Given the description of an element on the screen output the (x, y) to click on. 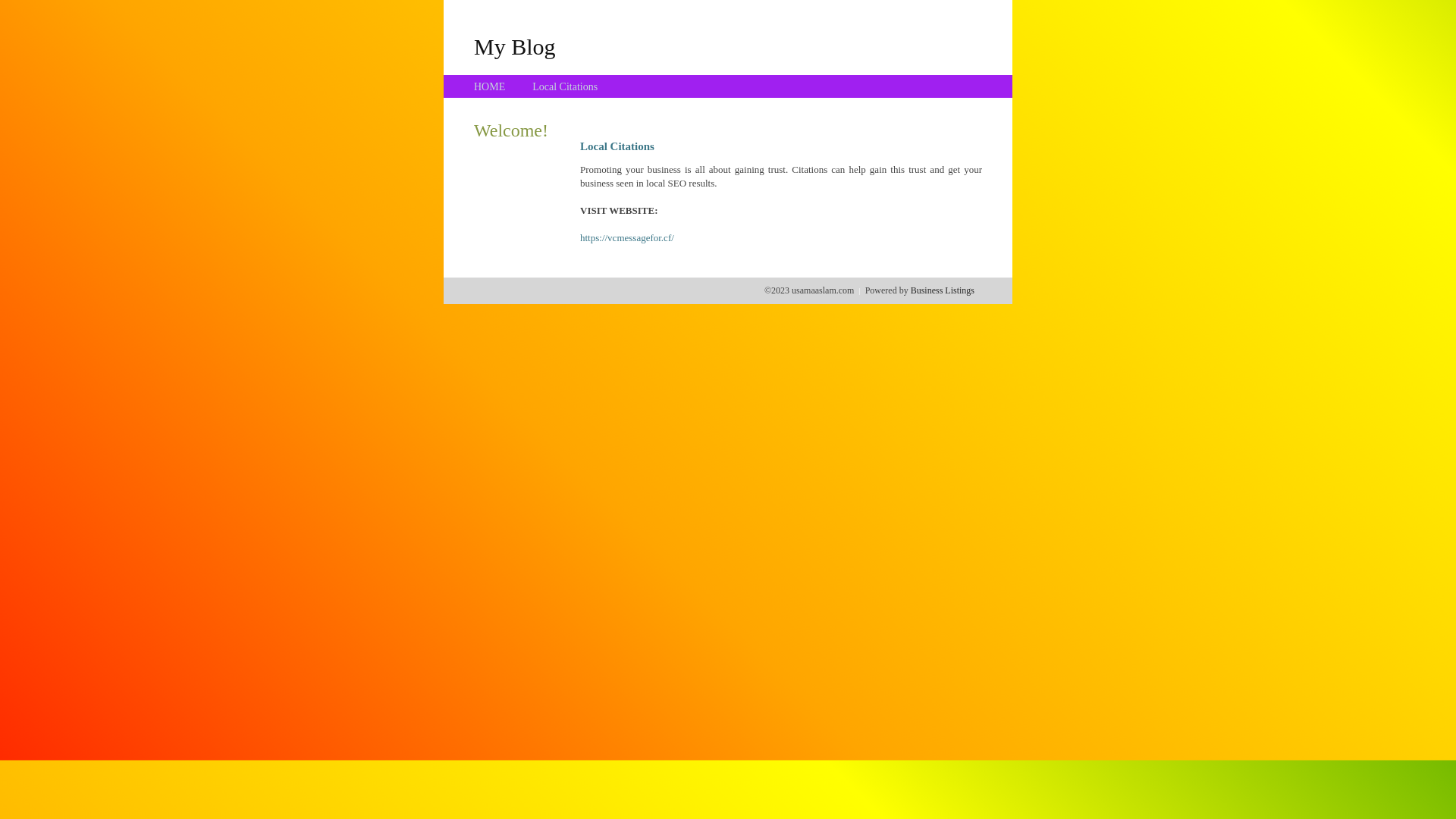
https://vcmessagefor.cf/ Element type: text (627, 237)
My Blog Element type: text (514, 46)
Local Citations Element type: text (564, 86)
HOME Element type: text (489, 86)
Business Listings Element type: text (942, 290)
